Given the description of an element on the screen output the (x, y) to click on. 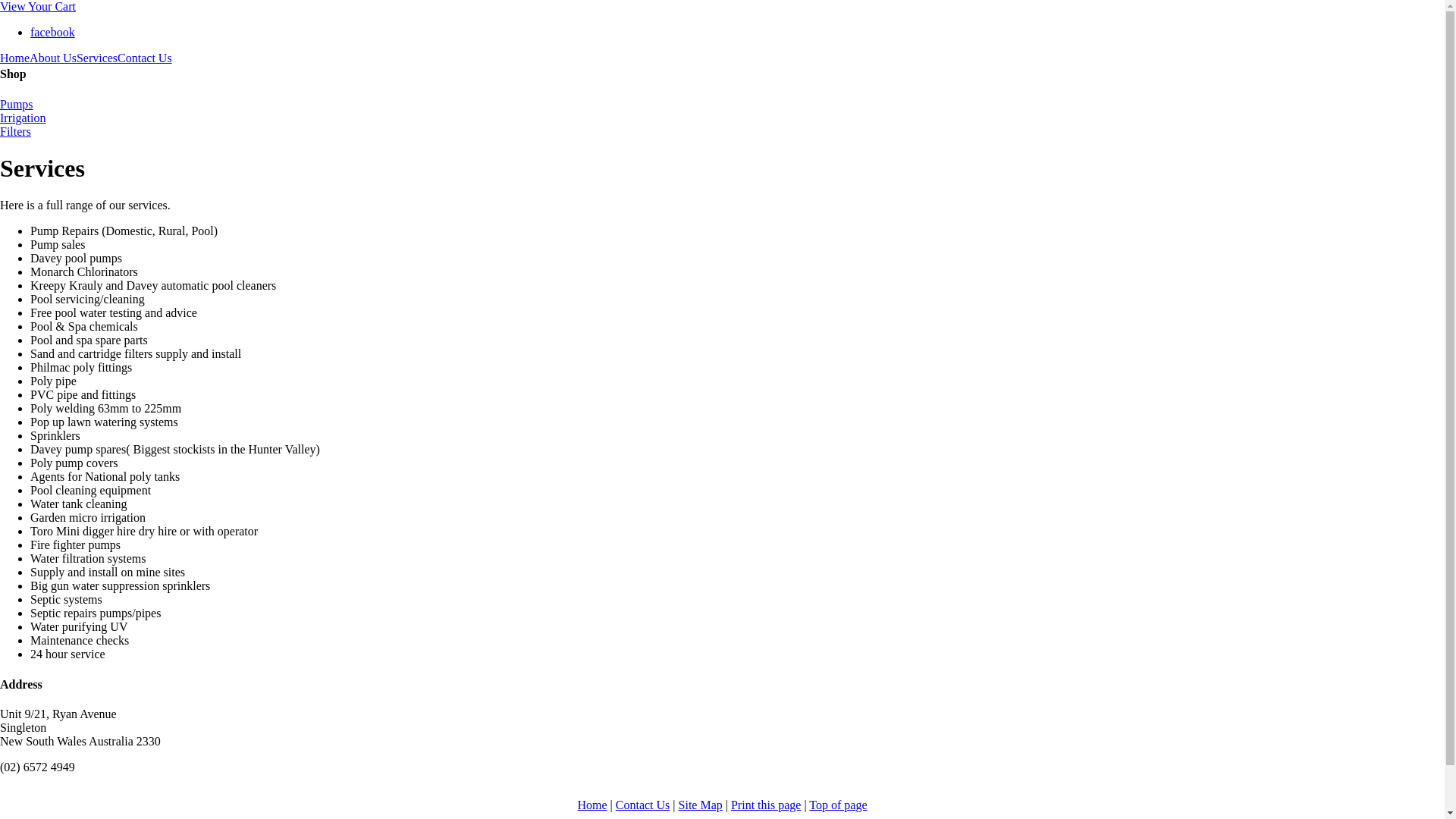
facebook Element type: text (52, 31)
Irrigation Element type: text (722, 118)
View Your Cart Element type: text (37, 6)
Pumps Element type: text (722, 104)
About Us Element type: text (52, 58)
Home Element type: text (591, 804)
Filters Element type: text (722, 131)
Contact Us Element type: text (642, 804)
Print this page Element type: text (765, 804)
Top of page Element type: text (837, 804)
Site Map Element type: text (700, 804)
Contact Us Element type: text (144, 58)
Services Element type: text (96, 58)
Home Element type: text (14, 58)
